Given the description of an element on the screen output the (x, y) to click on. 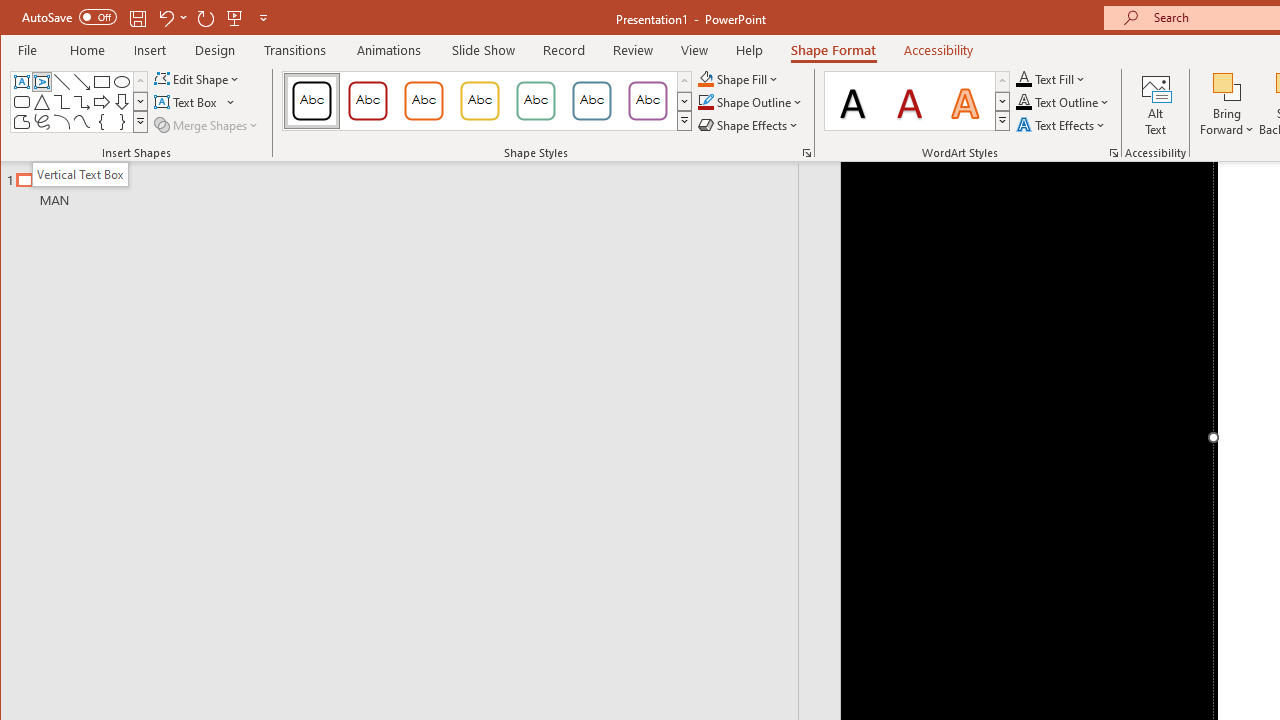
Colored Outline - Gold, Accent 3 (479, 100)
Draw Horizontal Text Box (187, 101)
Colored Outline - Dark Red, Accent 1 (367, 100)
